Given the description of an element on the screen output the (x, y) to click on. 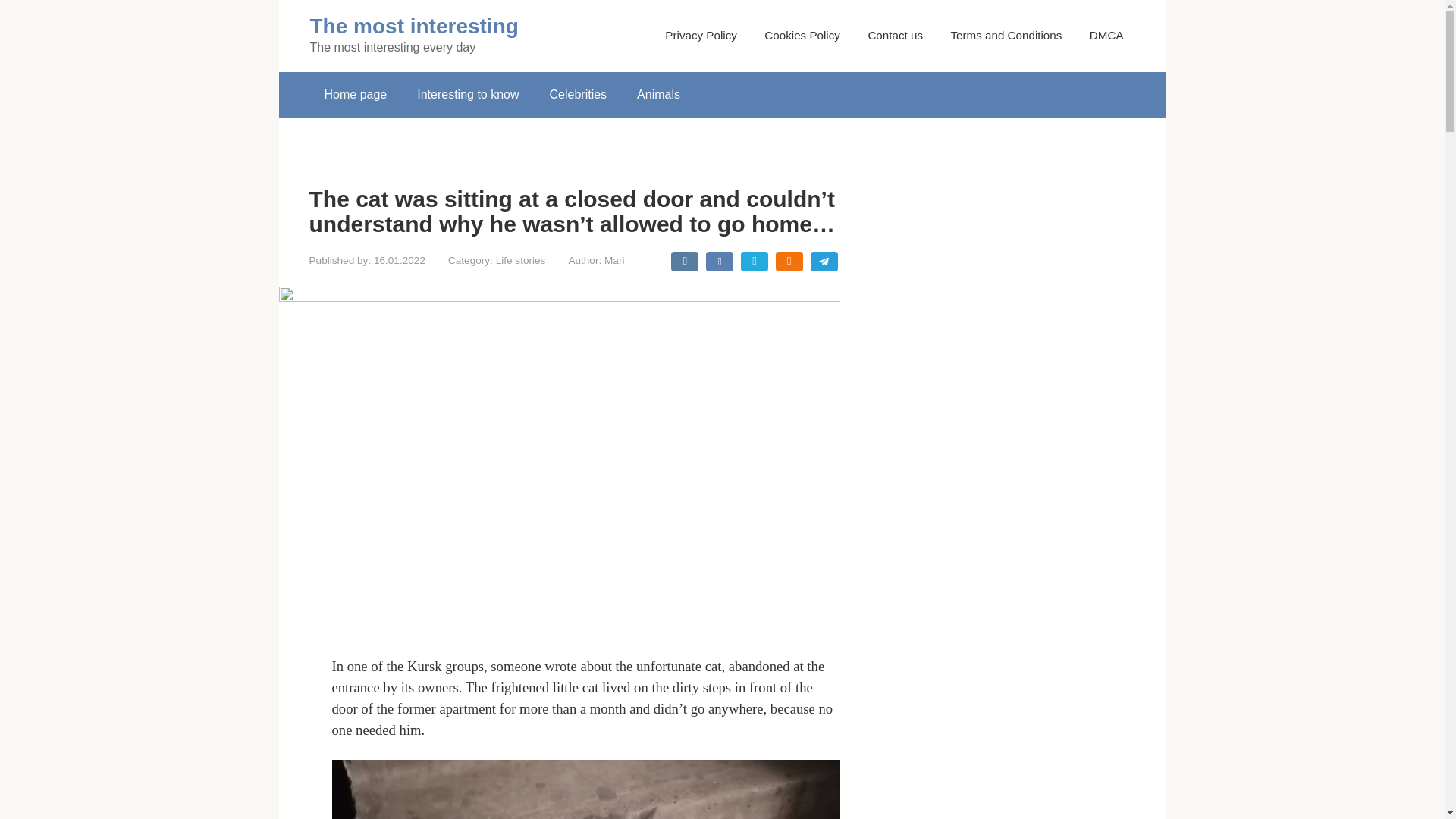
Contact us (895, 35)
Life stories (521, 260)
Privacy Policy (700, 35)
Animals (658, 94)
Home page (355, 94)
DMCA (1106, 35)
Celebrities (578, 94)
Terms and Conditions (1005, 35)
The most interesting (413, 25)
Cookies Policy (802, 35)
Interesting to know (467, 94)
